Given the description of an element on the screen output the (x, y) to click on. 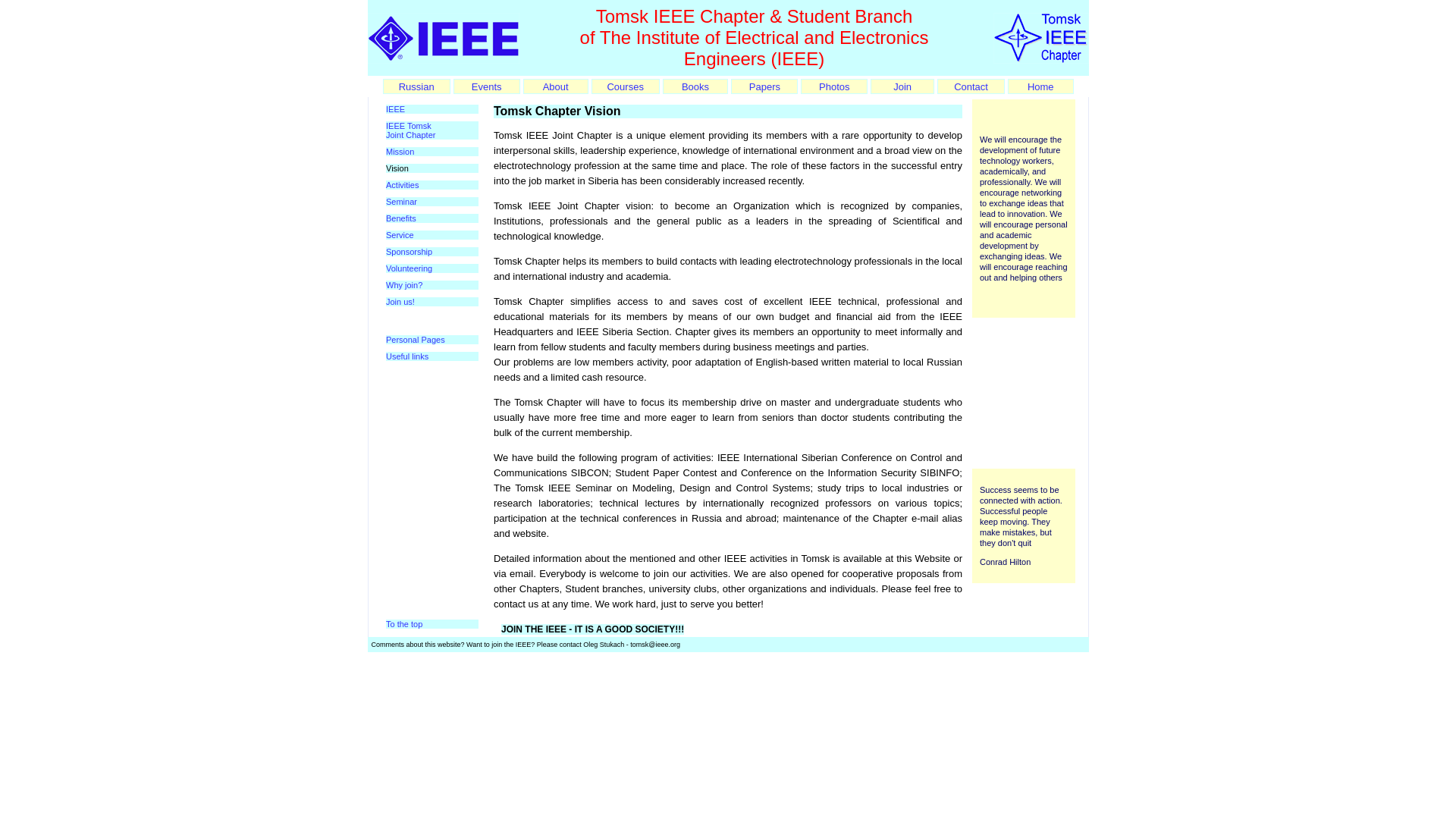
IEEE (394, 108)
Join (902, 85)
Sponsorship (408, 251)
Courses (625, 85)
Russian (415, 85)
Join us! (399, 301)
Events (486, 85)
Why join? (403, 284)
About (556, 85)
Seminar (400, 201)
